Given the description of an element on the screen output the (x, y) to click on. 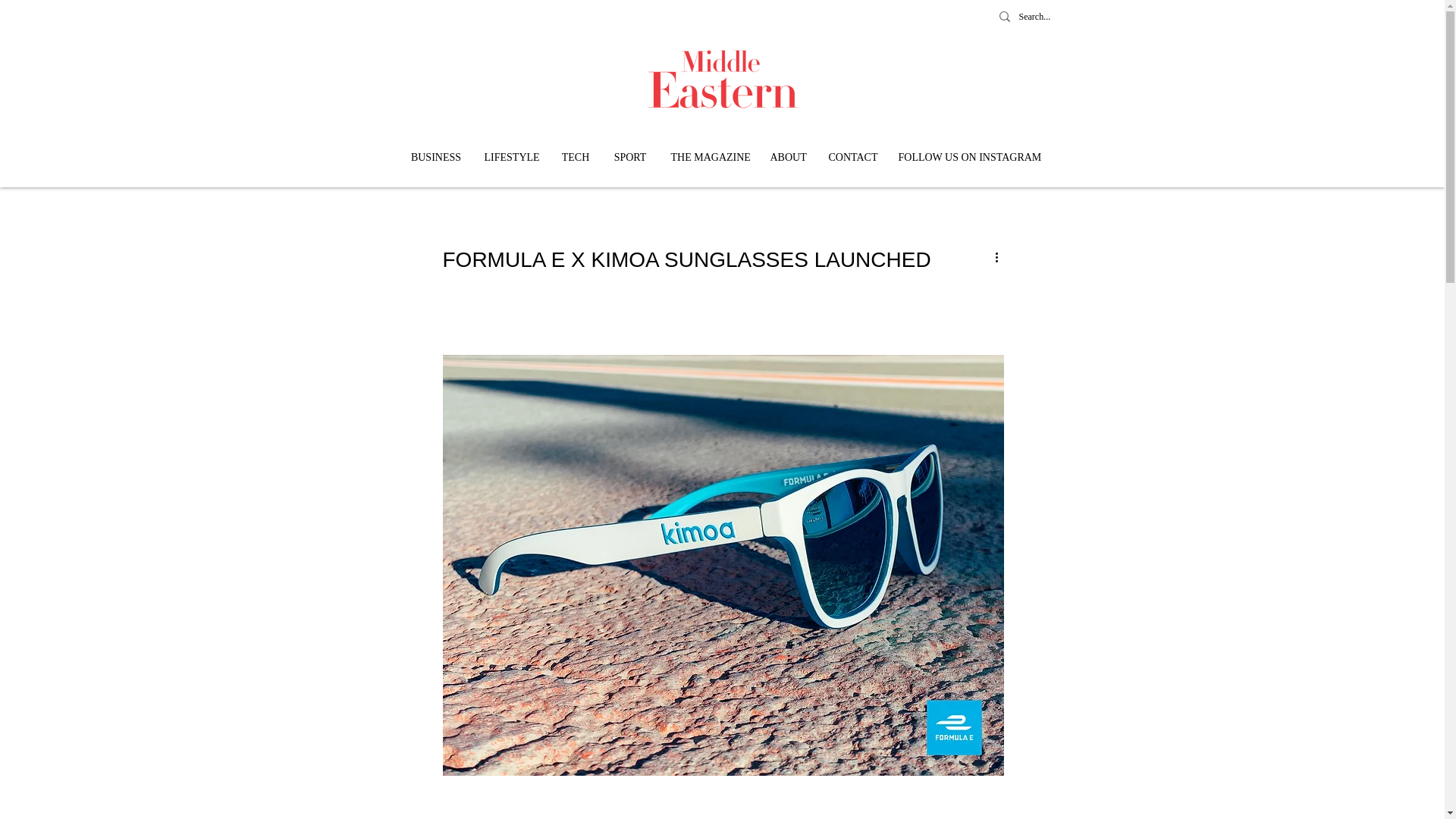
THE MAGAZINE (708, 157)
SPORT (629, 157)
LIFESTYLE (511, 157)
CONTACT (851, 157)
ABOUT (787, 157)
TECH (575, 157)
FOLLOW US ON INSTAGRAM (965, 157)
BUSINESS (434, 157)
